Given the description of an element on the screen output the (x, y) to click on. 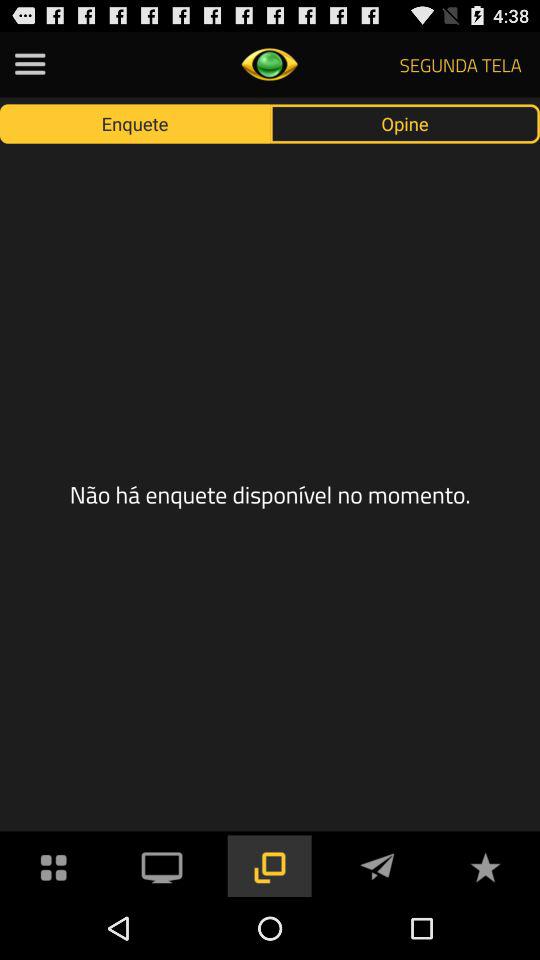
shrink (269, 865)
